Given the description of an element on the screen output the (x, y) to click on. 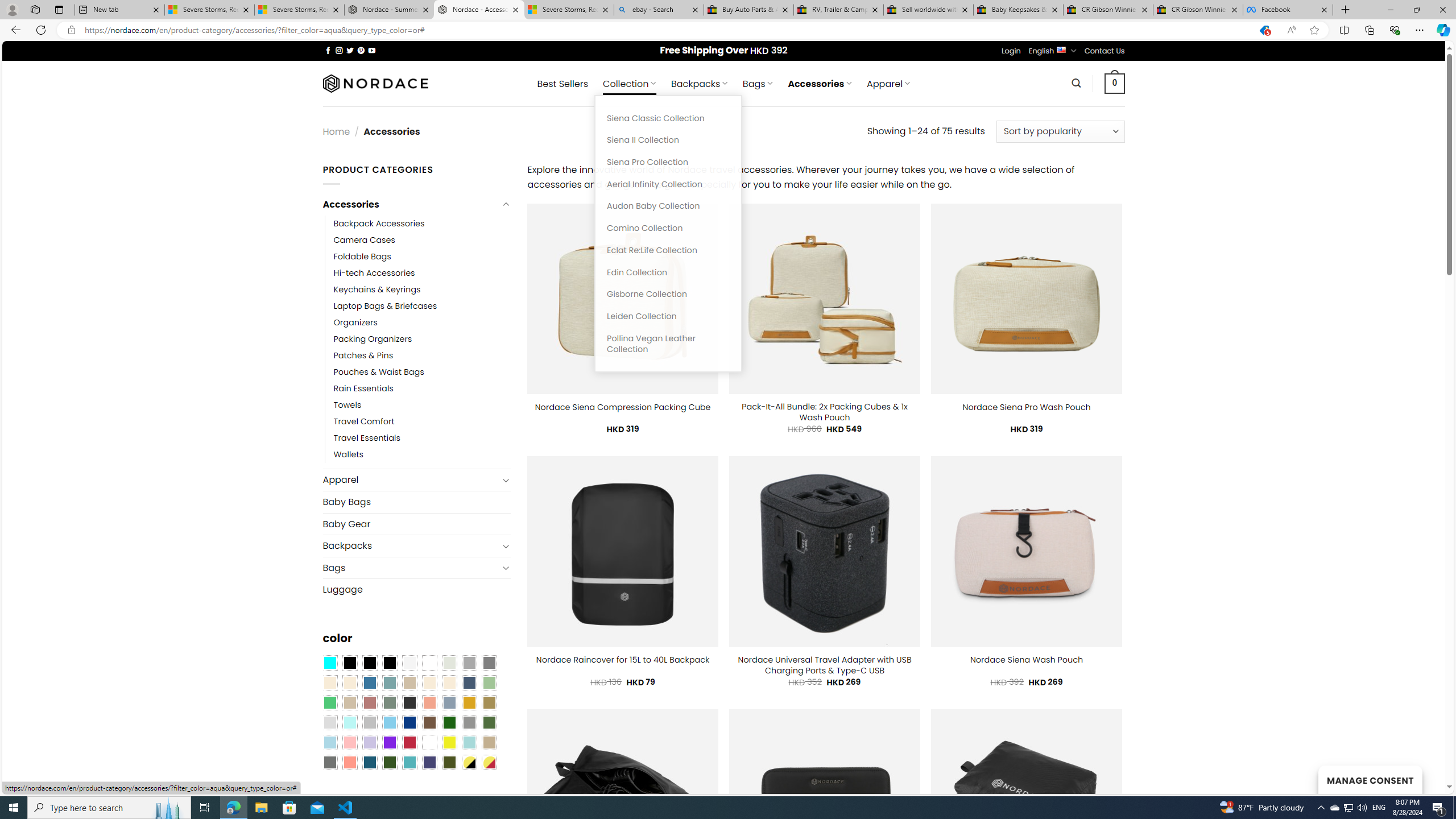
Red (408, 741)
Gray (468, 721)
Kelp (488, 702)
Mint (349, 721)
Foldable Bags (422, 256)
Brownie (408, 681)
Organizers (422, 321)
All Gray (488, 662)
Sage (389, 702)
Light Green (488, 681)
Accessories (410, 204)
